Given the description of an element on the screen output the (x, y) to click on. 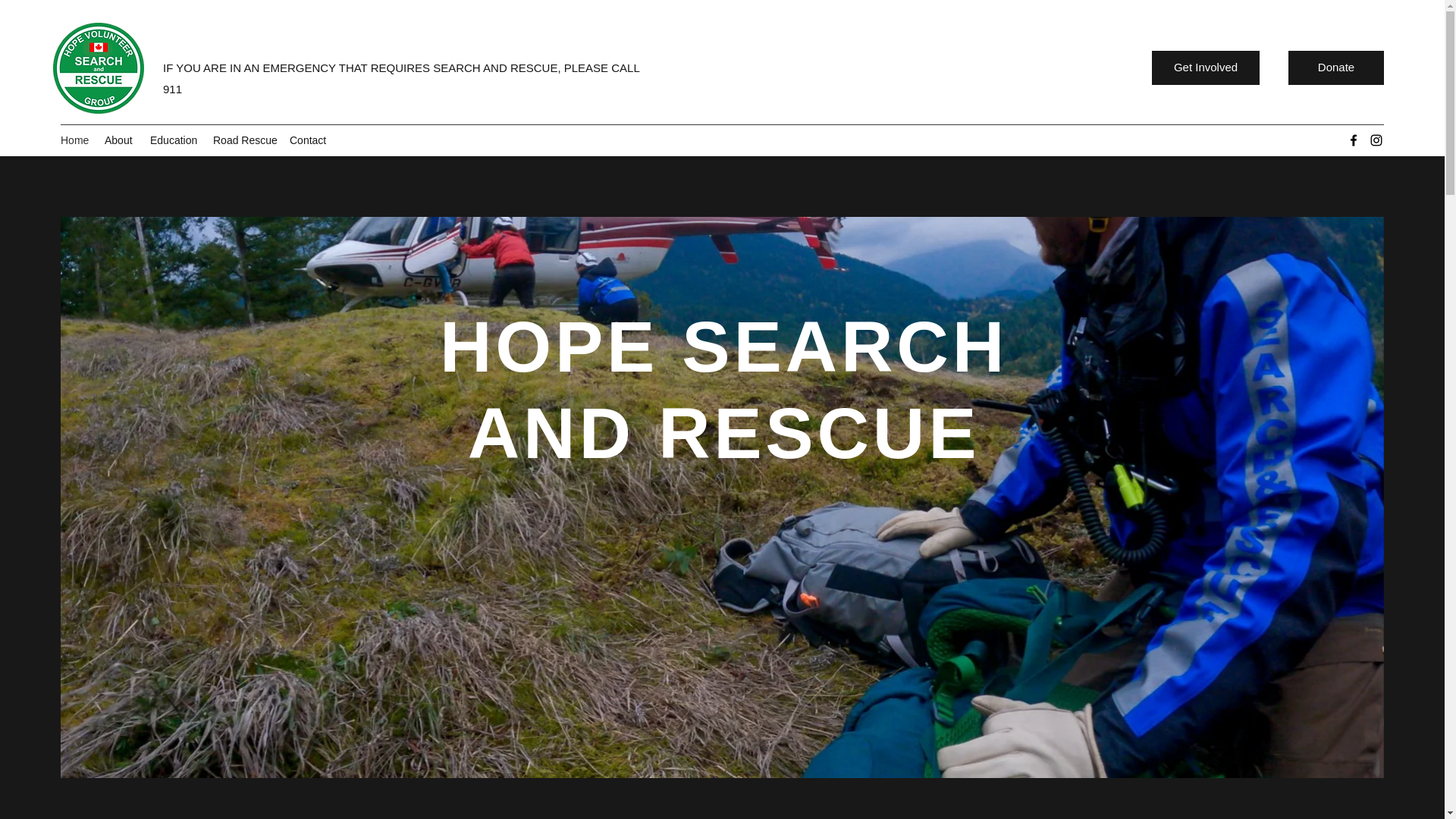
Home (74, 140)
About (119, 140)
Donate (1336, 67)
Get Involved (1205, 67)
Contact (308, 140)
Road Rescue (243, 140)
Education (173, 140)
